Given the description of an element on the screen output the (x, y) to click on. 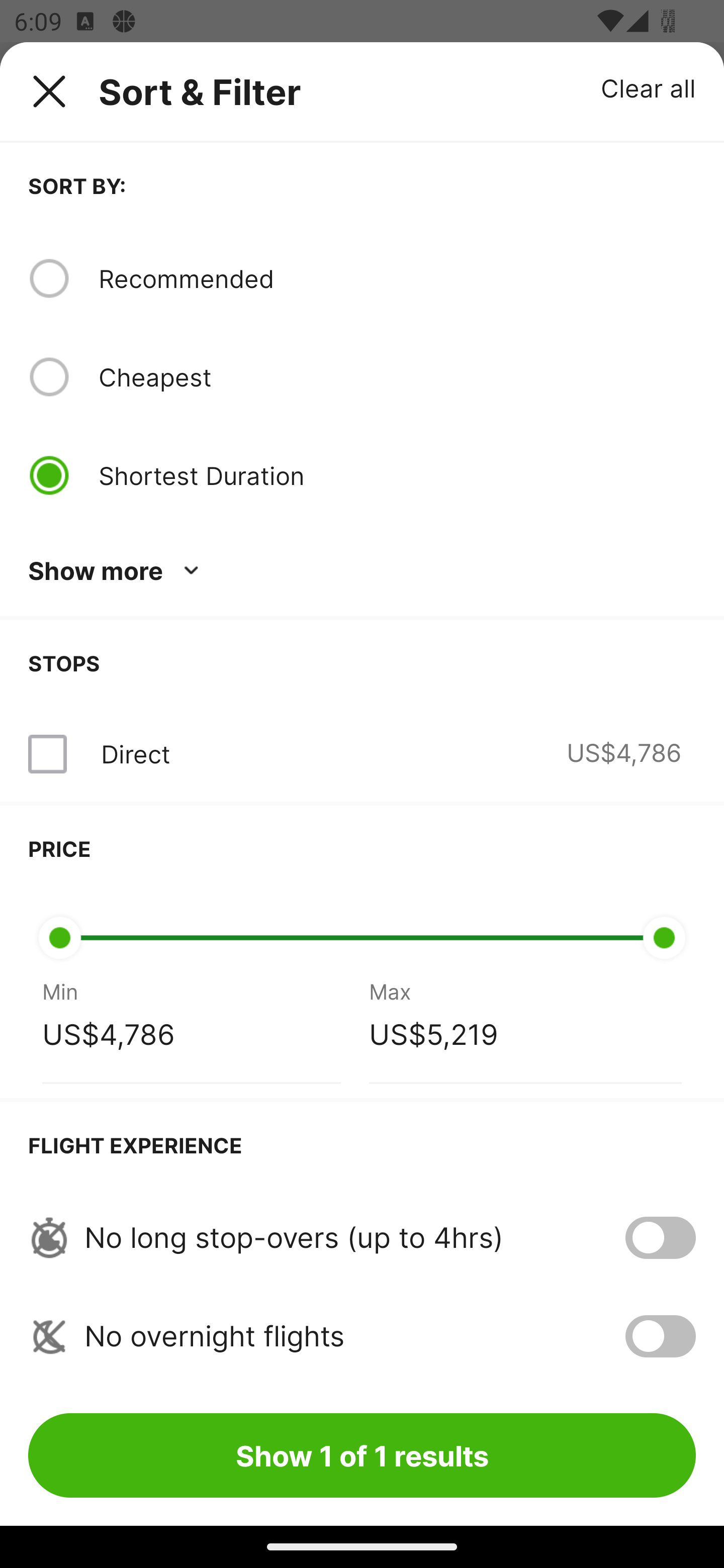
Clear all (648, 87)
Recommended  (396, 278)
Cheapest (396, 377)
Shortest Duration (396, 474)
Show more (116, 570)
Direct US$4,786 (362, 754)
Direct (135, 753)
Show 1 of 1 results (361, 1454)
